Given the description of an element on the screen output the (x, y) to click on. 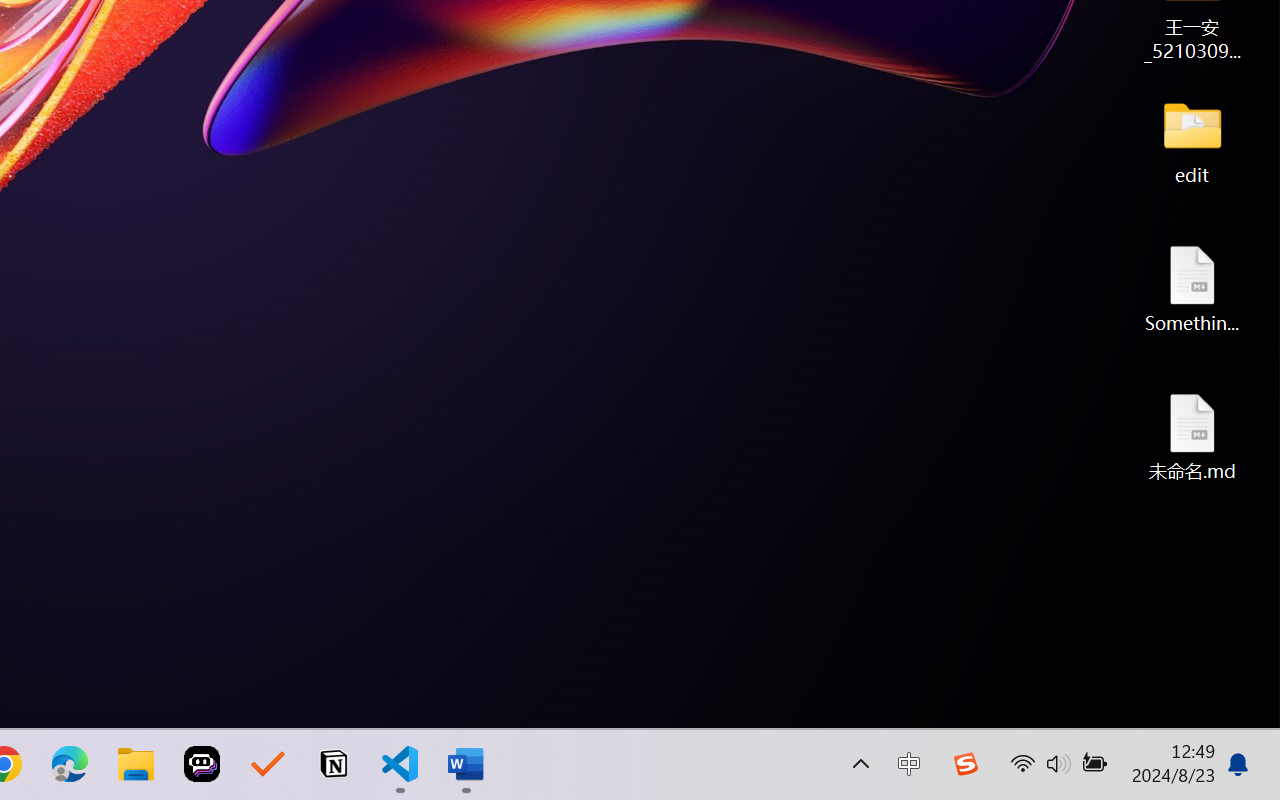
Microsoft Edge (69, 764)
Something.md (1192, 288)
edit (1192, 140)
